Given the description of an element on the screen output the (x, y) to click on. 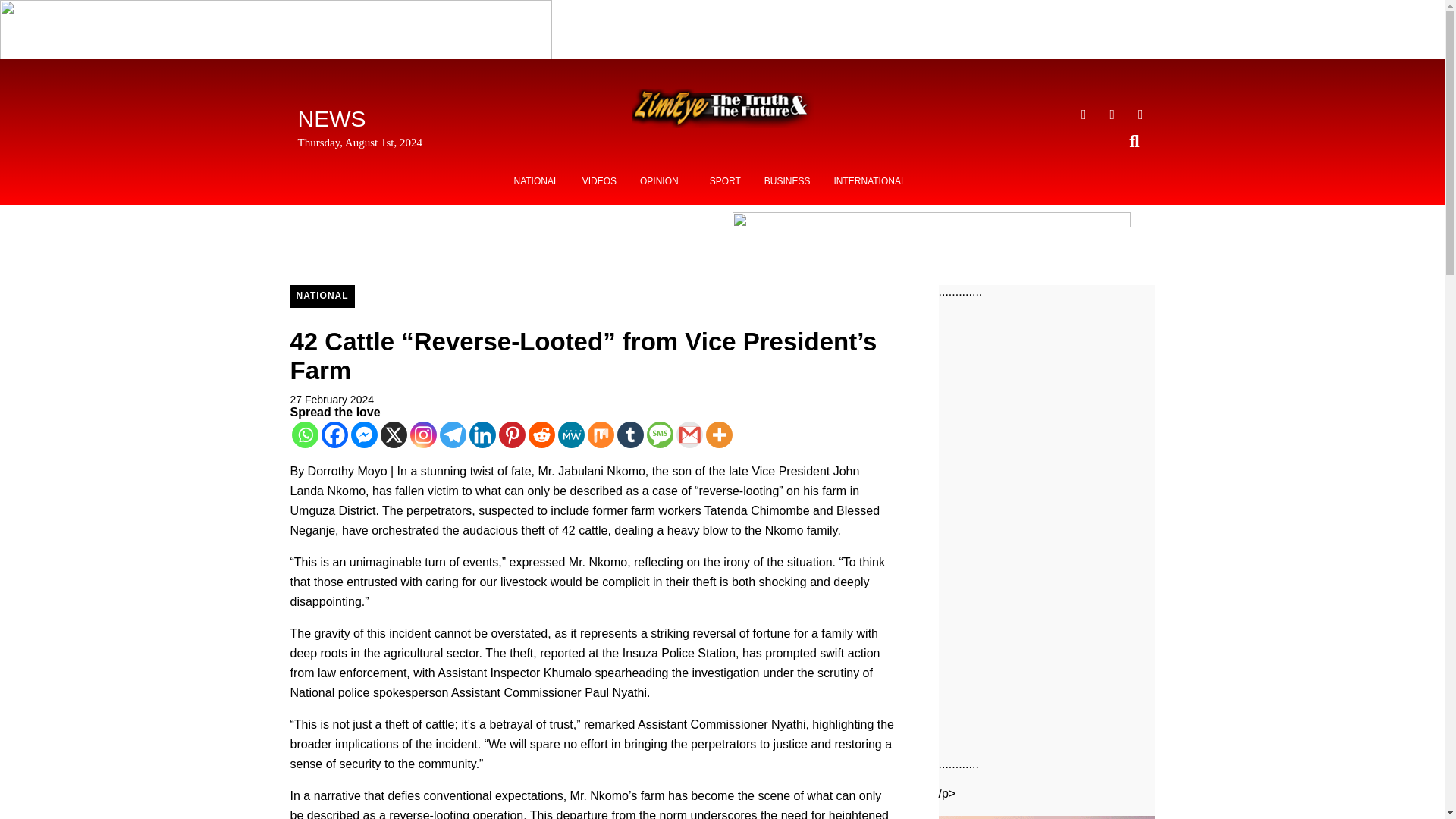
NATIONAL (536, 181)
VIDEOS (598, 181)
INTERNATIONAL (868, 181)
Whatsapp (304, 434)
Reddit (540, 434)
Facebook Messenger (363, 434)
Mix (599, 434)
MeWe (571, 434)
Instagram (422, 434)
Linkedin (481, 434)
OPINION (662, 181)
Telegram (452, 434)
Facebook (334, 434)
NATIONAL (321, 296)
X (393, 434)
